Given the description of an element on the screen output the (x, y) to click on. 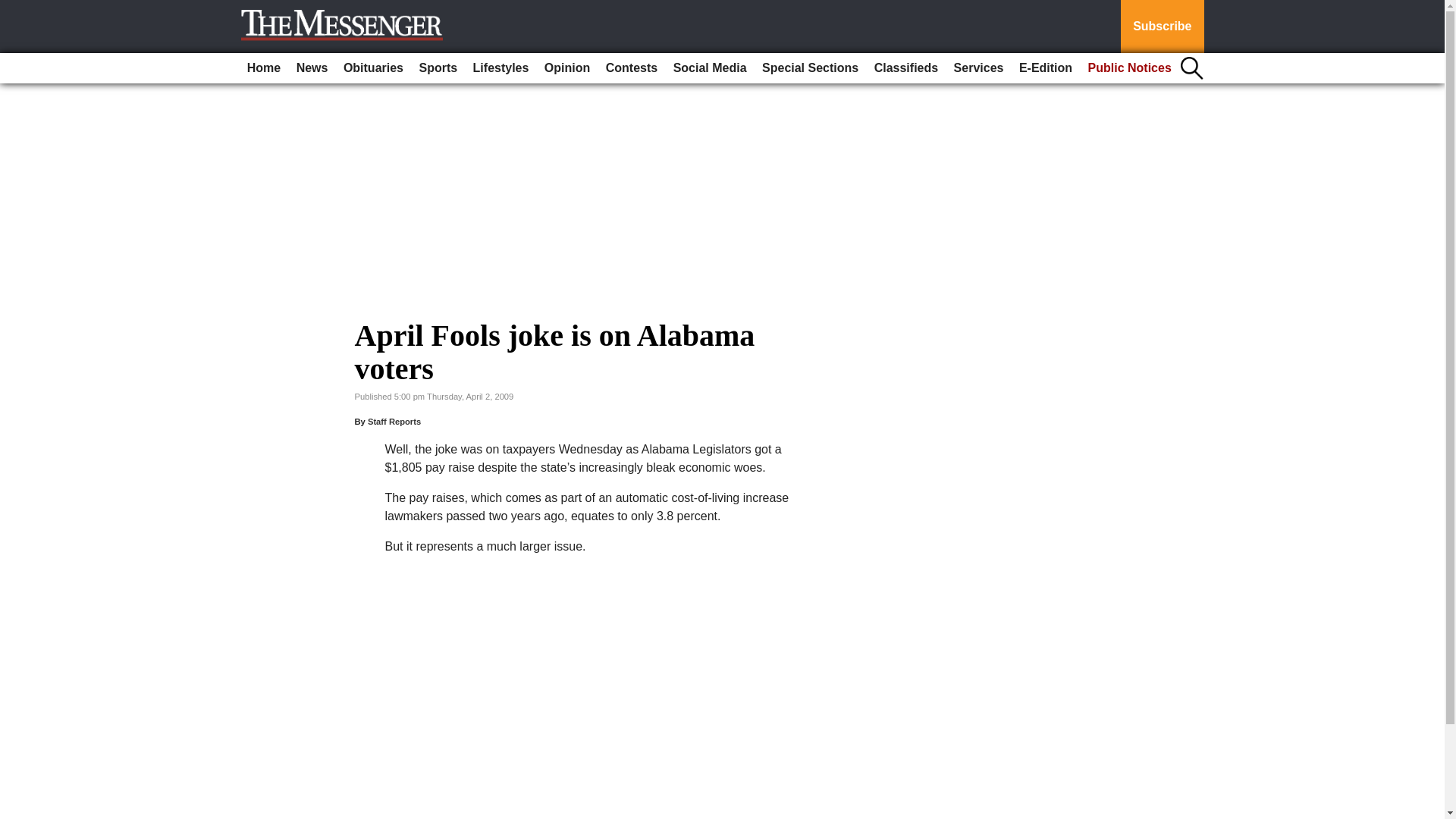
Social Media (709, 68)
Obituaries (373, 68)
Contests (631, 68)
Opinion (566, 68)
Lifestyles (501, 68)
Public Notices (1129, 68)
Special Sections (809, 68)
Classifieds (905, 68)
News (311, 68)
Subscribe (1162, 26)
